Given the description of an element on the screen output the (x, y) to click on. 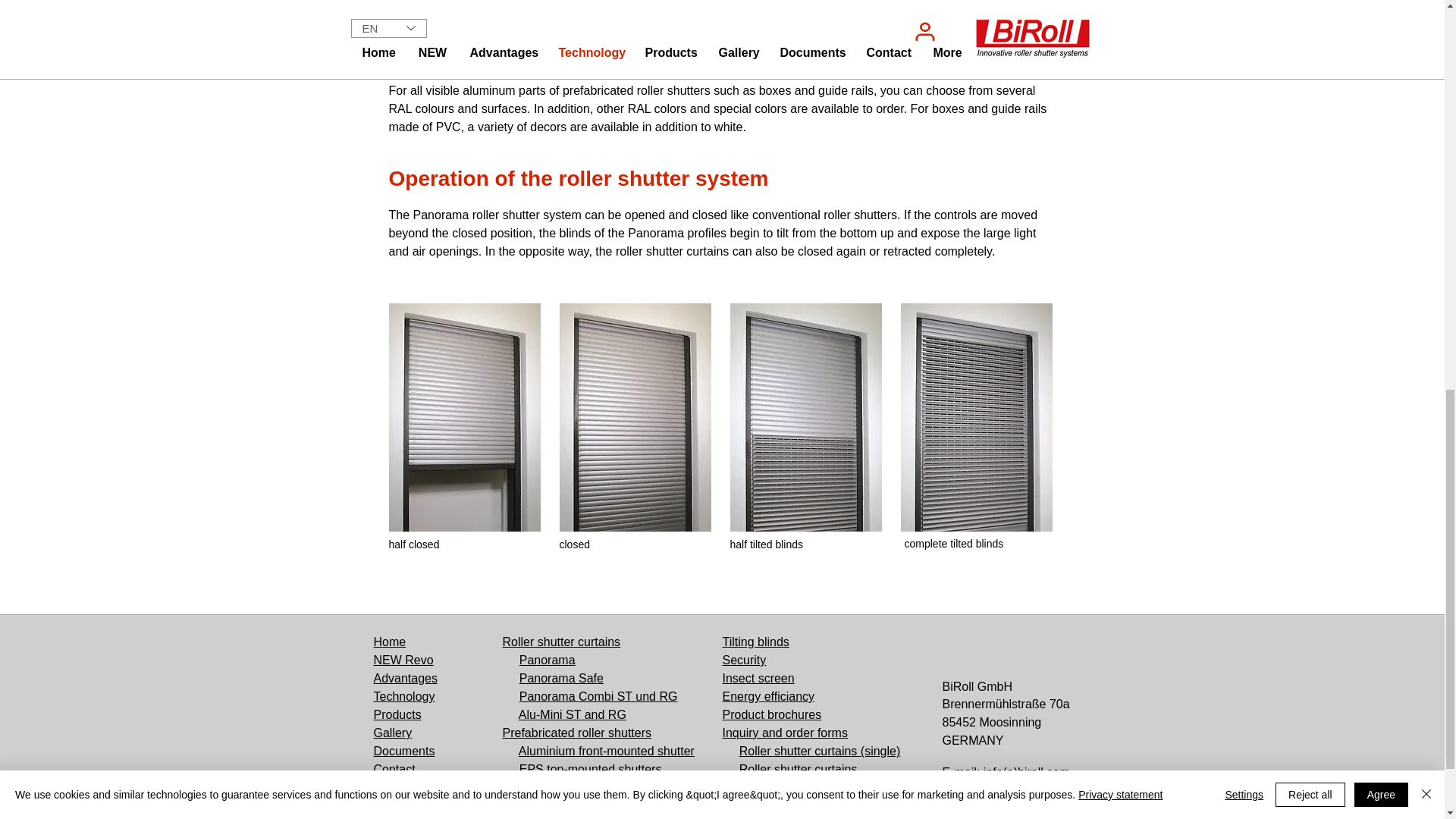
Panorama Safe (561, 677)
NEW Revo (402, 659)
Panorama Combi ST und RG (598, 696)
Panorama (547, 659)
Gallery (392, 732)
Documents (402, 750)
Alu-Mini ST and RG (572, 714)
Technology (402, 696)
top-mounted shutters (604, 768)
